Given the description of an element on the screen output the (x, y) to click on. 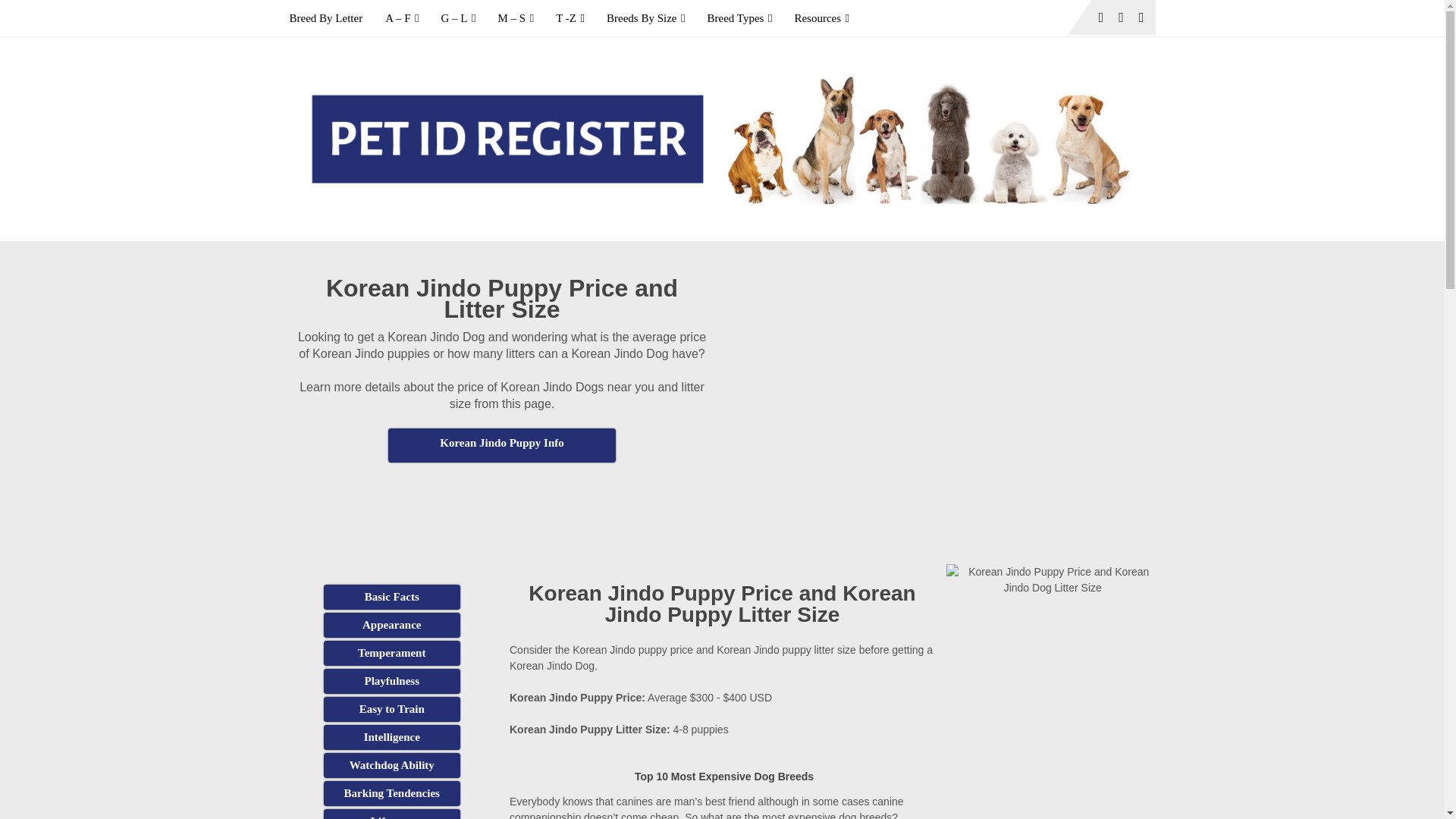
T -Z (569, 18)
Breeds By Size (645, 18)
Advertisement (501, 501)
Breed By Letter (331, 18)
Breed Types (739, 18)
tooltip (501, 445)
What are the temperaments of Korean Jindo Dogs? (391, 652)
Resources (821, 18)
Do Korean Jindo Dogs bark a lot? (391, 793)
Are Korean Jindo Dogs intelligent? (391, 737)
